Given the description of an element on the screen output the (x, y) to click on. 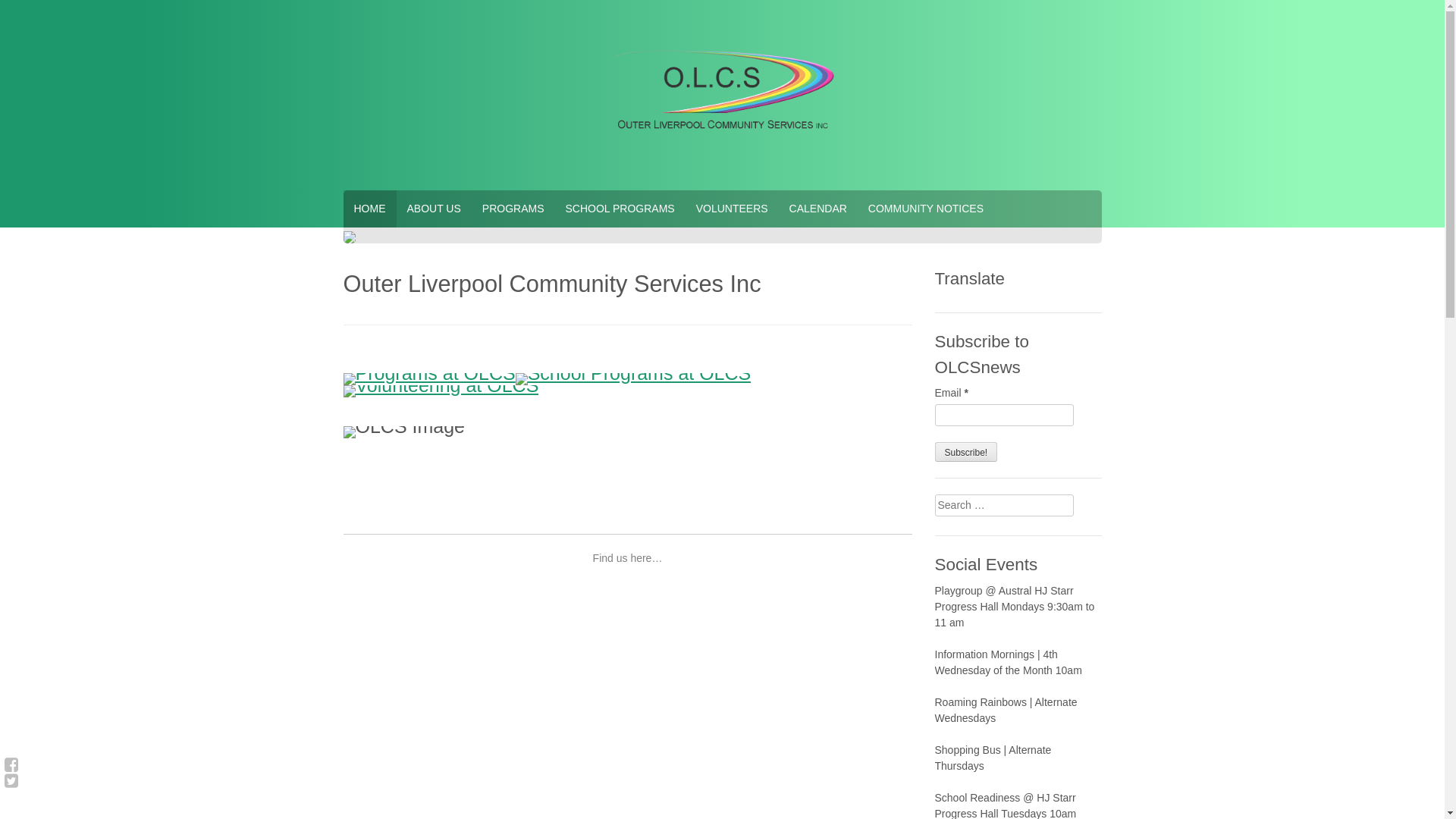
SCHOOL PROGRAMS Element type: text (620, 208)
HOME Element type: text (368, 208)
PROGRAMS Element type: text (513, 208)
ABOUT US Element type: text (432, 208)
Email Element type: hover (1003, 415)
COMMUNITY NOTICES Element type: text (925, 208)
Subscribe! Element type: text (965, 451)
Search Element type: text (24, 9)
VOLUNTEERS Element type: text (731, 208)
Skip to content Element type: text (0, 0)
CALENDAR Element type: text (817, 208)
Twitter Element type: hover (11, 780)
Facebook Element type: hover (11, 764)
